Given the description of an element on the screen output the (x, y) to click on. 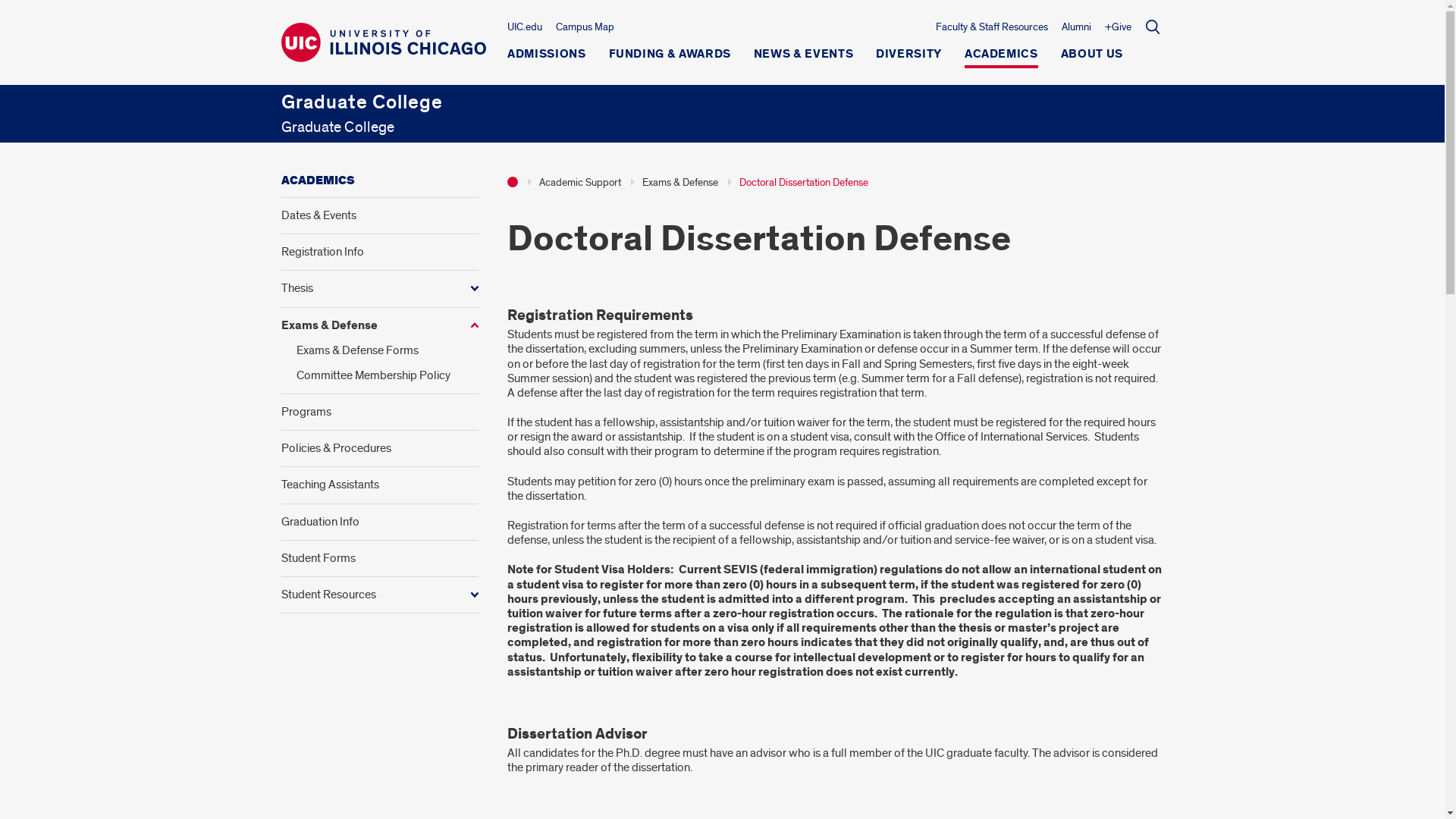
ACADEMICS (1000, 57)
University of Illinois Chicago (382, 42)
ABOUT US (1091, 57)
University of Illinois Chicago (382, 54)
DIVERSITY (909, 57)
ADMISSIONS (545, 57)
